Given the description of an element on the screen output the (x, y) to click on. 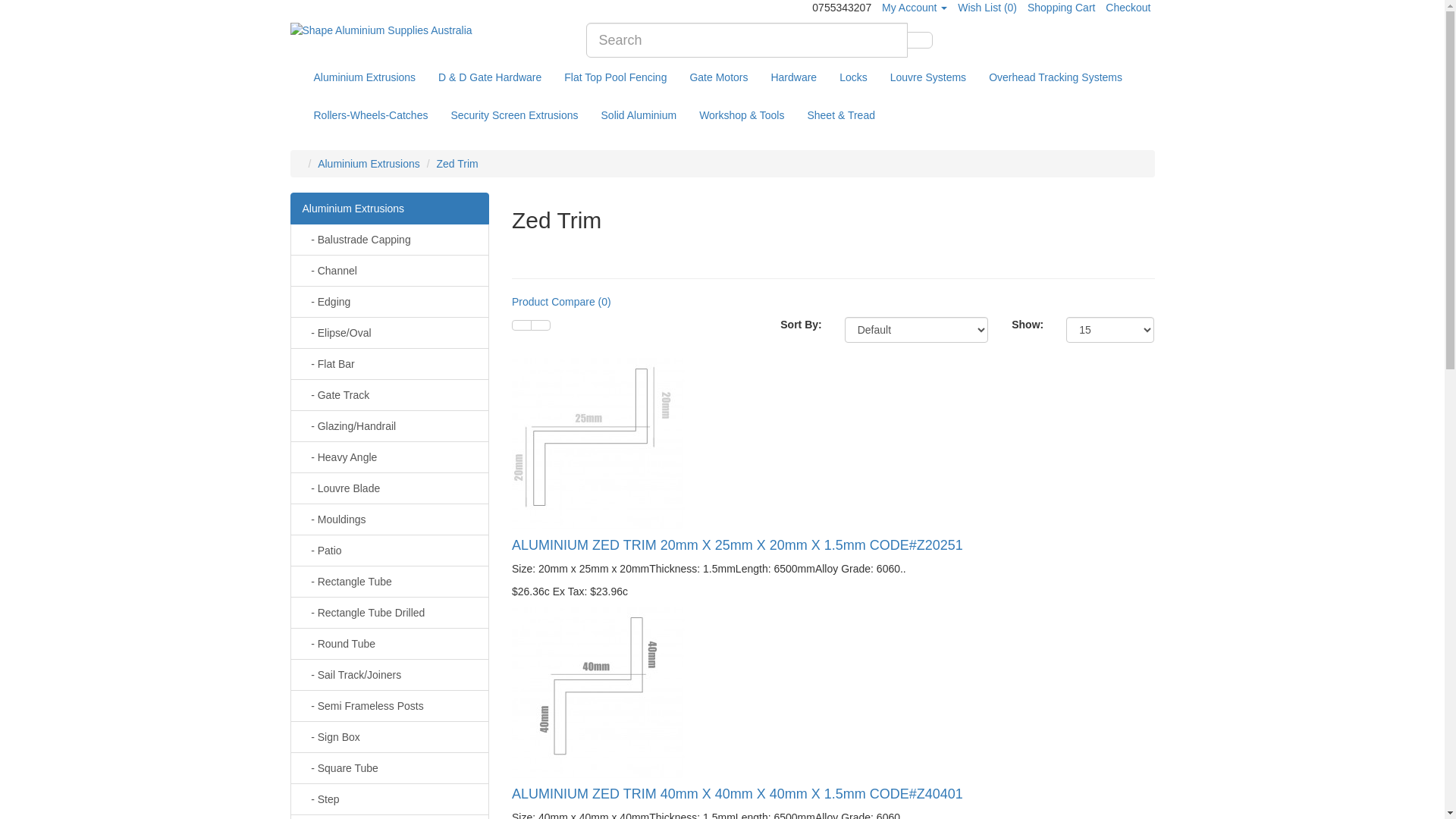
ALUMINIUM ZED TRIM 20mm X 25mm X 20mm X 1.5mm CODE#Z20251 Element type: text (737, 544)
   - Round Tube Element type: text (389, 643)
Rollers-Wheels-Catches Element type: text (370, 115)
   - Flat Bar Element type: text (389, 363)
Security Screen Extrusions Element type: text (514, 115)
   - Square Tube Element type: text (389, 768)
   - Sign Box Element type: text (389, 737)
   - Channel Element type: text (389, 270)
Aluminium Extrusions Element type: text (363, 77)
Solid Aluminium Element type: text (638, 115)
Shopping Cart Element type: text (1061, 7)
   - Gate Track Element type: text (389, 395)
ALUMINIUM ZED TRIM 40mm X 40mm X 40mm X 1.5mm CODE#Z40401 Element type: hover (597, 692)
Hardware Element type: text (793, 77)
D & D Gate Hardware Element type: text (489, 77)
Louvre Systems Element type: text (927, 77)
Product Compare (0) Element type: text (561, 301)
Aluminium Extrusions Element type: text (368, 163)
   - Mouldings Element type: text (389, 519)
   - Rectangle Tube Drilled Element type: text (389, 612)
Locks Element type: text (853, 77)
List Element type: hover (521, 325)
   - Rectangle Tube Element type: text (389, 581)
My Account Element type: text (914, 7)
   - Elipse/Oval Element type: text (389, 332)
ALUMINIUM ZED TRIM 40mm X 40mm X 40mm X 1.5mm CODE#Z40401 Element type: text (737, 793)
Workshop & Tools Element type: text (741, 115)
Shape Aluminium Supplies Australia Element type: hover (425, 29)
Wish List (0) Element type: text (986, 7)
   - Balustrade Capping Element type: text (389, 239)
   - Semi Frameless Posts Element type: text (389, 705)
Zed Trim Element type: text (456, 163)
   - Patio Element type: text (389, 550)
   - Edging Element type: text (389, 301)
Gate Motors Element type: text (718, 77)
ALUMINIUM ZED TRIM 20mm X 25mm X 20mm X 1.5mm CODE#Z20251 Element type: hover (597, 443)
Flat Top Pool Fencing Element type: text (614, 77)
   - Step Element type: text (389, 799)
   - Sail Track/Joiners Element type: text (389, 674)
Aluminium Extrusions Element type: text (389, 208)
Grid Element type: hover (540, 325)
Overhead Tracking Systems Element type: text (1055, 77)
Checkout Element type: text (1127, 7)
   - Glazing/Handrail Element type: text (389, 426)
   - Heavy Angle Element type: text (389, 457)
   - Louvre Blade Element type: text (389, 488)
Sheet & Tread Element type: text (840, 115)
